Given the description of an element on the screen output the (x, y) to click on. 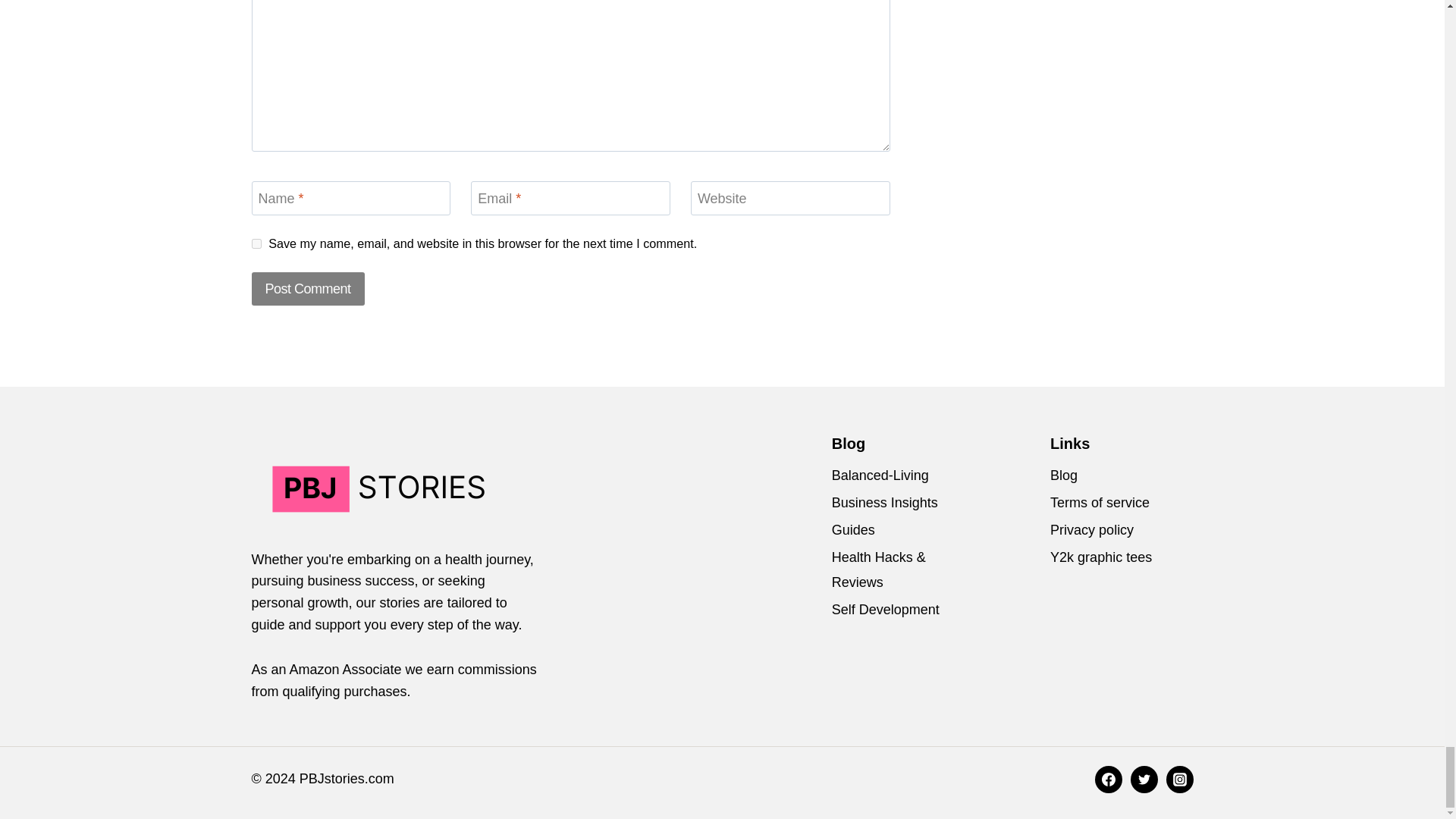
Post Comment (308, 287)
yes (256, 243)
